Given the description of an element on the screen output the (x, y) to click on. 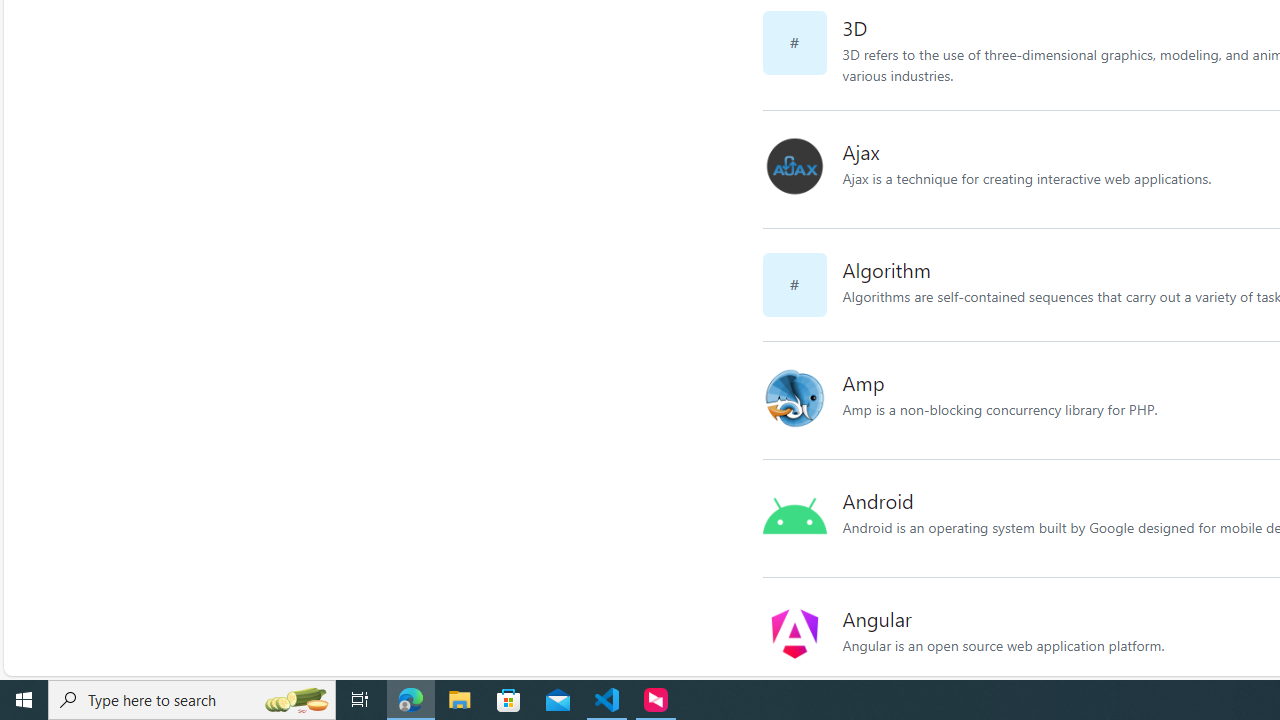
android (793, 515)
ajax (802, 169)
ajax (793, 166)
angular (802, 636)
amphp (802, 399)
# (802, 284)
android (802, 517)
angular (793, 633)
amphp (793, 397)
